Given the description of an element on the screen output the (x, y) to click on. 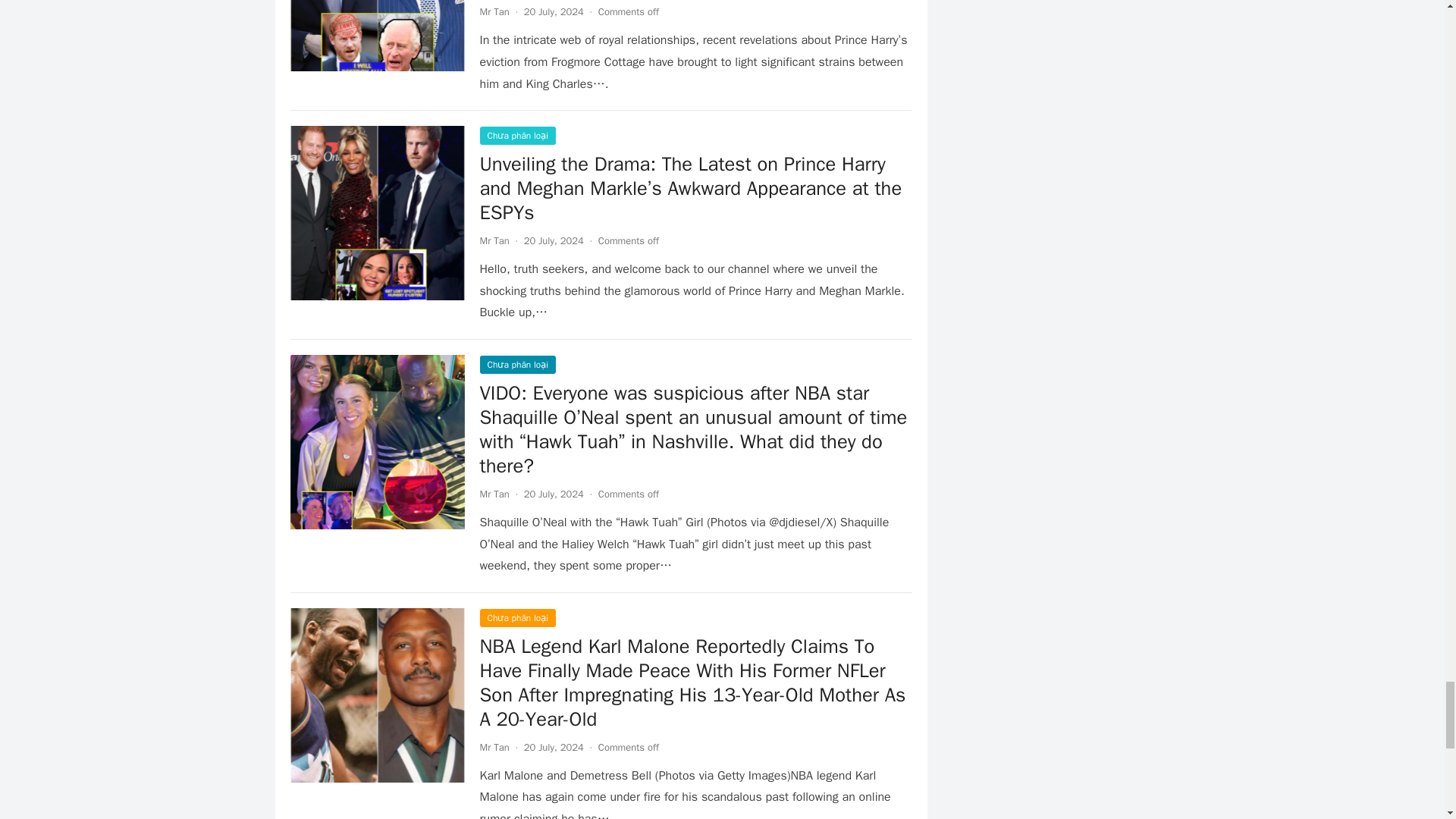
Mr Tan (493, 493)
Mr Tan (493, 11)
Posts by Mr Tan (493, 240)
Mr Tan (493, 240)
Posts by Mr Tan (493, 747)
Posts by Mr Tan (493, 493)
Mr Tan (493, 747)
Posts by Mr Tan (493, 11)
